Given the description of an element on the screen output the (x, y) to click on. 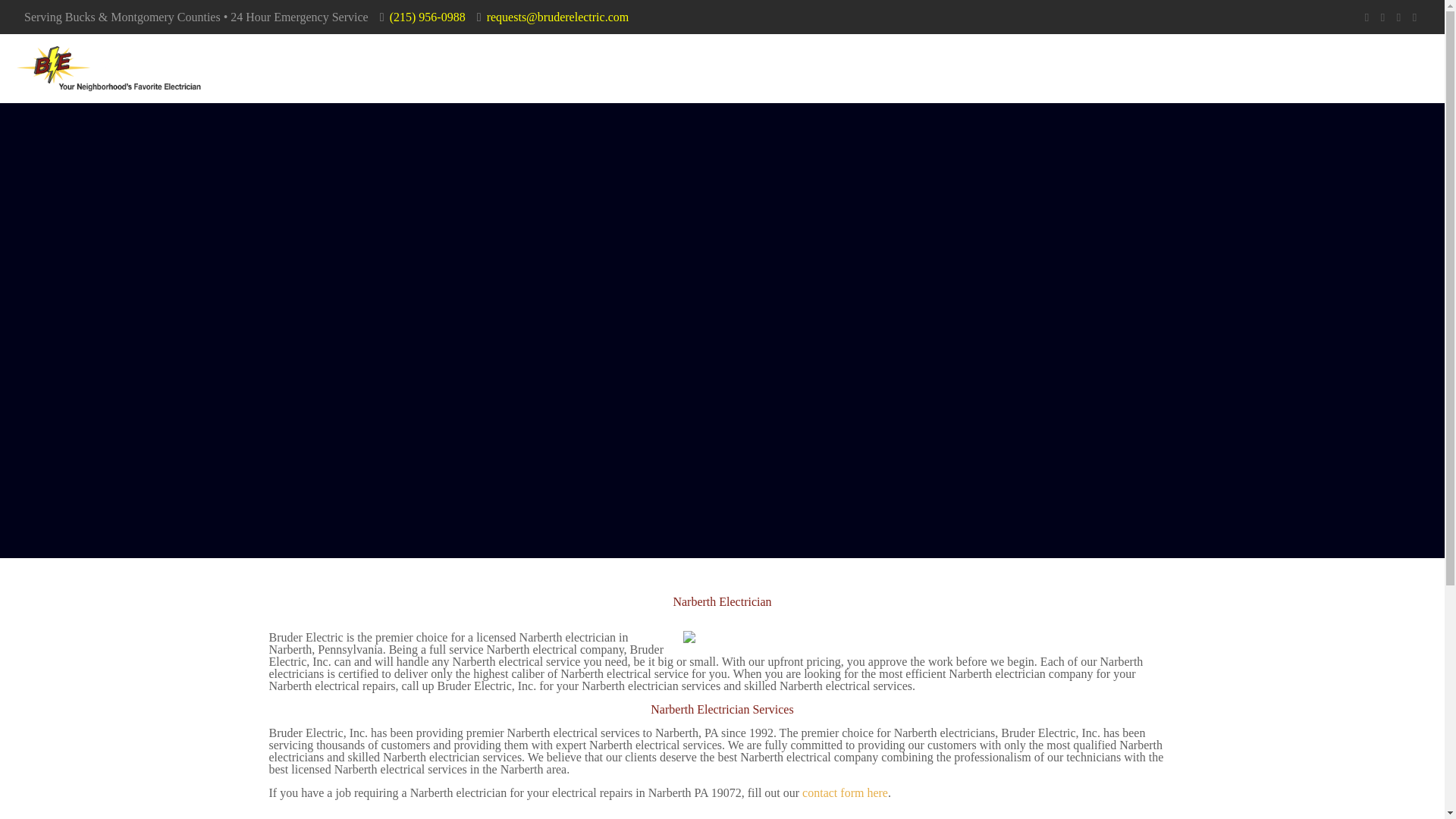
Instagram (1415, 17)
contact form here (845, 792)
COMMERCIAL (1276, 68)
ABOUT (1039, 68)
RESIDENTIAL (1146, 68)
BLOG (962, 68)
HOME (888, 68)
LinkedIn (1399, 17)
Facebook (1367, 17)
Bruder Electric (108, 68)
